Given the description of an element on the screen output the (x, y) to click on. 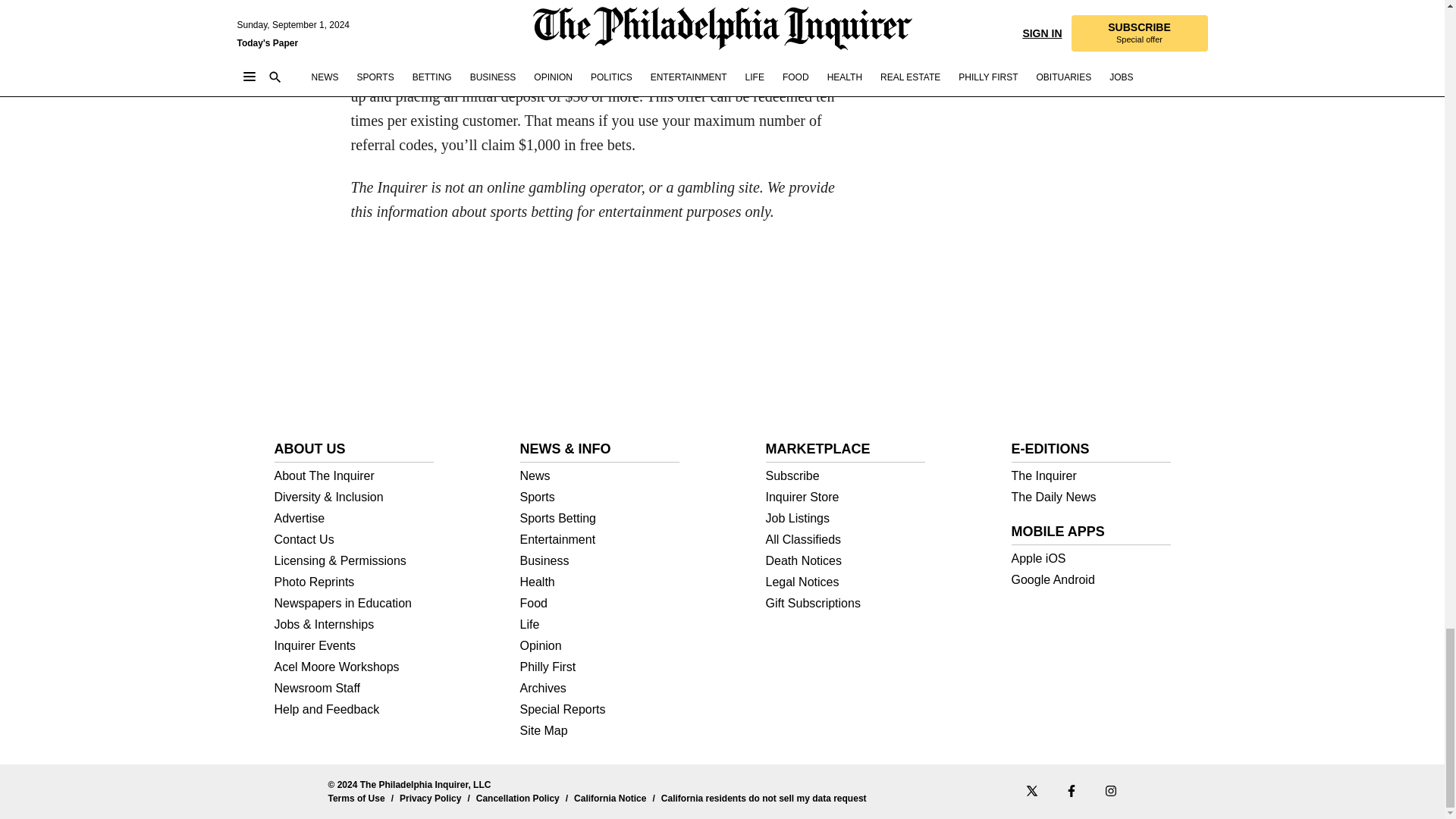
Instagram (1109, 790)
X (1030, 790)
Facebook (1070, 790)
